Given the description of an element on the screen output the (x, y) to click on. 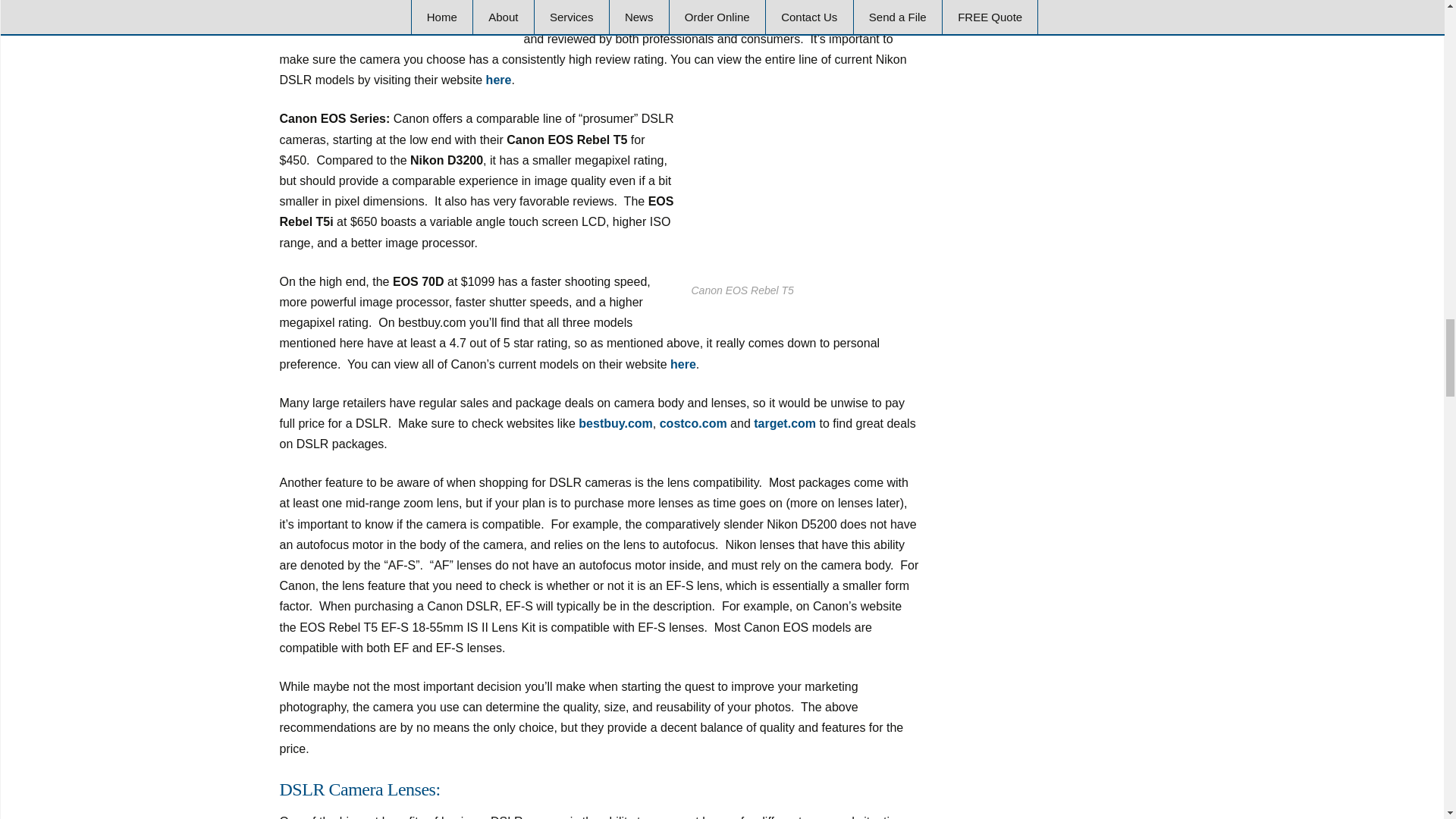
costco.com (692, 422)
target.com (784, 422)
here (682, 364)
here (499, 79)
bestbuy.com (615, 422)
